Given the description of an element on the screen output the (x, y) to click on. 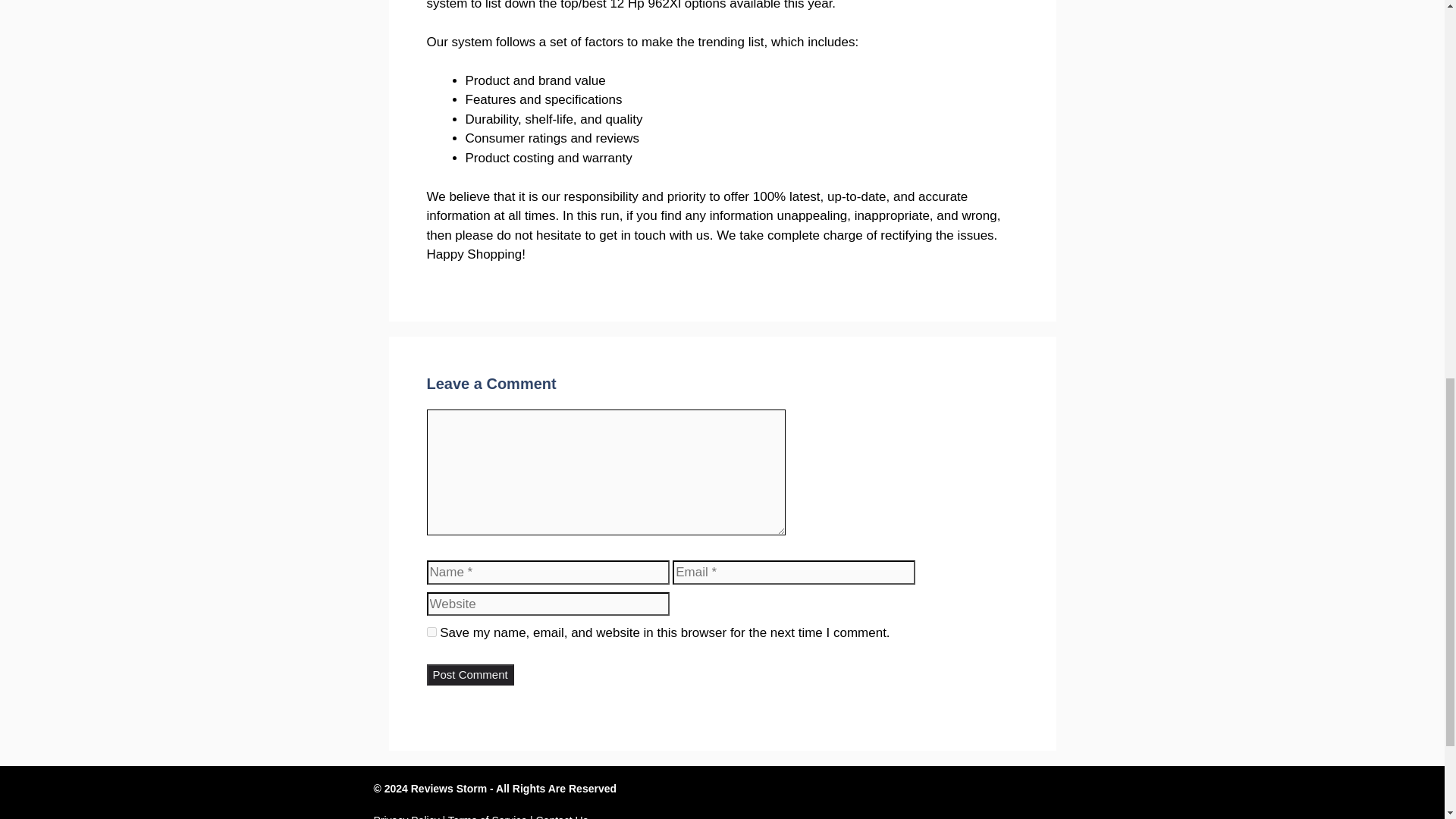
Post Comment (469, 675)
yes (430, 632)
Post Comment (469, 675)
Contact Us (561, 816)
Terms of Service (487, 816)
Privacy Policy (405, 816)
Reviews Storm (448, 788)
